Given the description of an element on the screen output the (x, y) to click on. 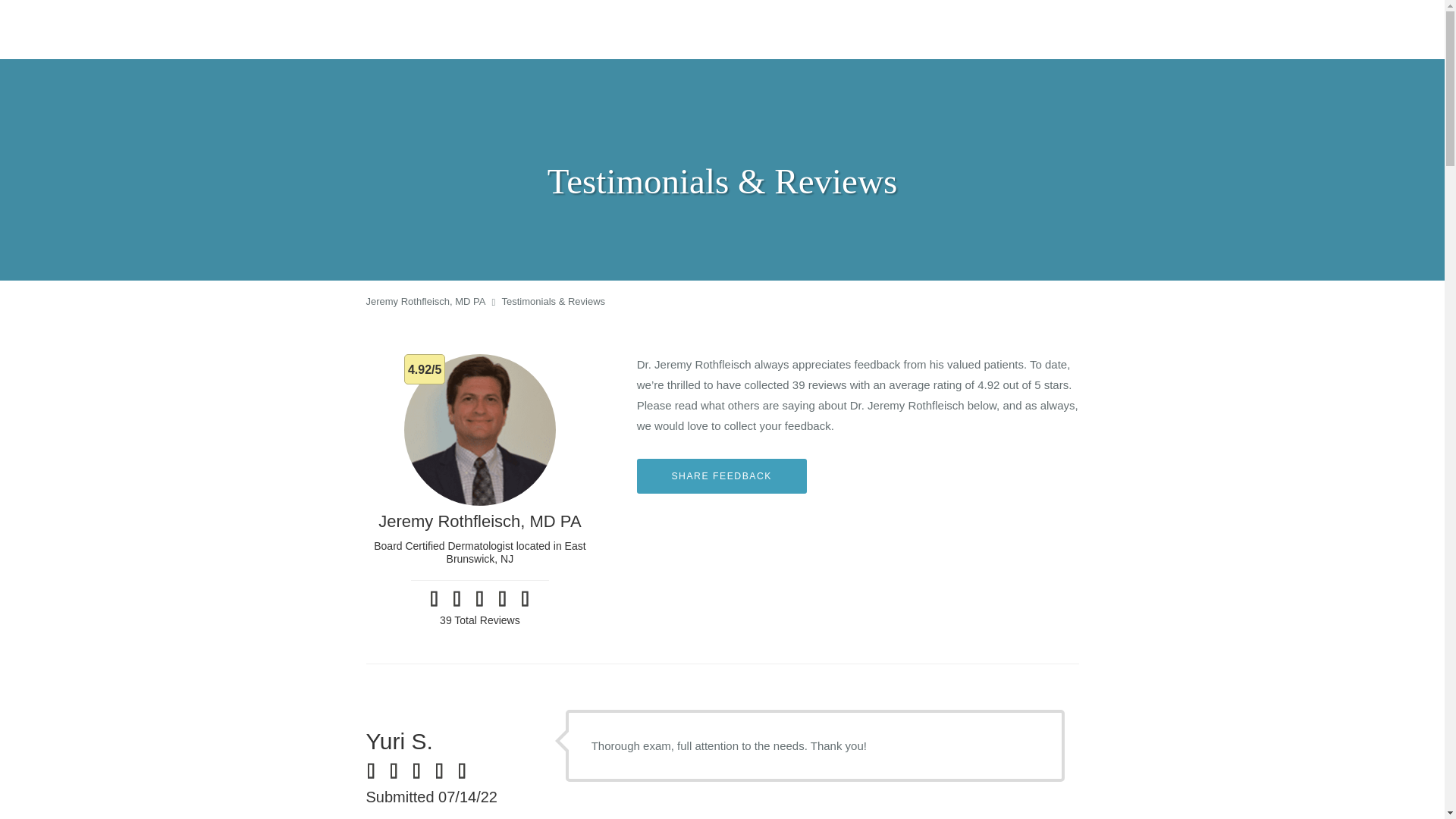
Star Rating (456, 598)
Star Rating (479, 598)
Star Rating (434, 598)
Star Rating (376, 771)
Share Feedback (721, 475)
Star Rating (467, 771)
Star Rating (444, 771)
BOOK ONLINE (1363, 29)
Star Rating (422, 771)
MEET DR. ROTHFLEISCH (869, 30)
732-242-3659 (1233, 29)
Star Rating (502, 598)
CONTACT (1136, 30)
Star Rating (399, 771)
SERVICES (976, 30)
